Given the description of an element on the screen output the (x, y) to click on. 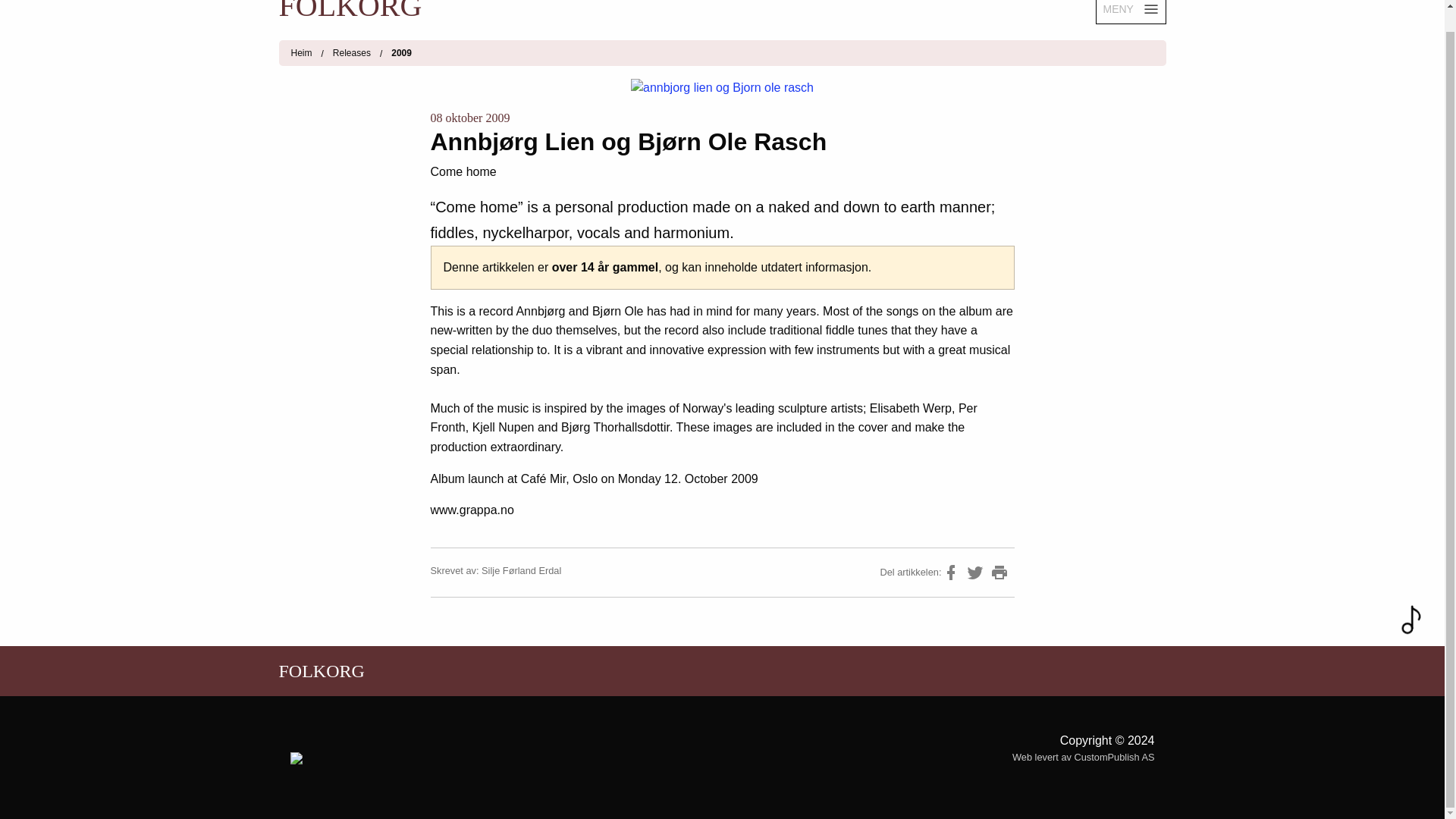
MENY (1130, 12)
Skriv ut (999, 572)
FOLKORG (500, 14)
